Given the description of an element on the screen output the (x, y) to click on. 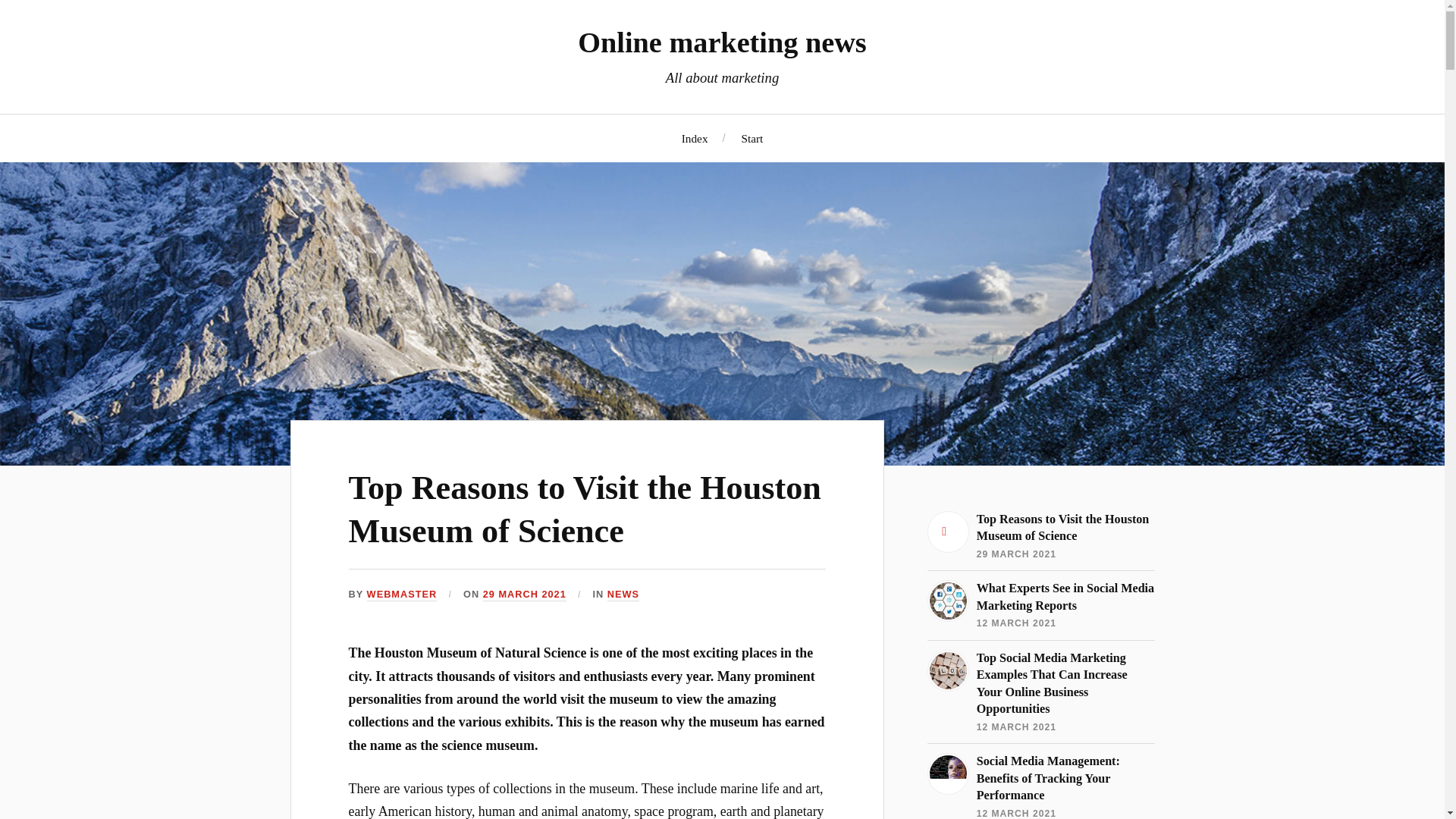
Top Reasons to Visit the Houston Museum of Science (585, 509)
29 MARCH 2021 (524, 594)
NEWS (623, 594)
WEBMASTER (402, 594)
Posts by webmaster (402, 594)
Online marketing news (722, 42)
